Given the description of an element on the screen output the (x, y) to click on. 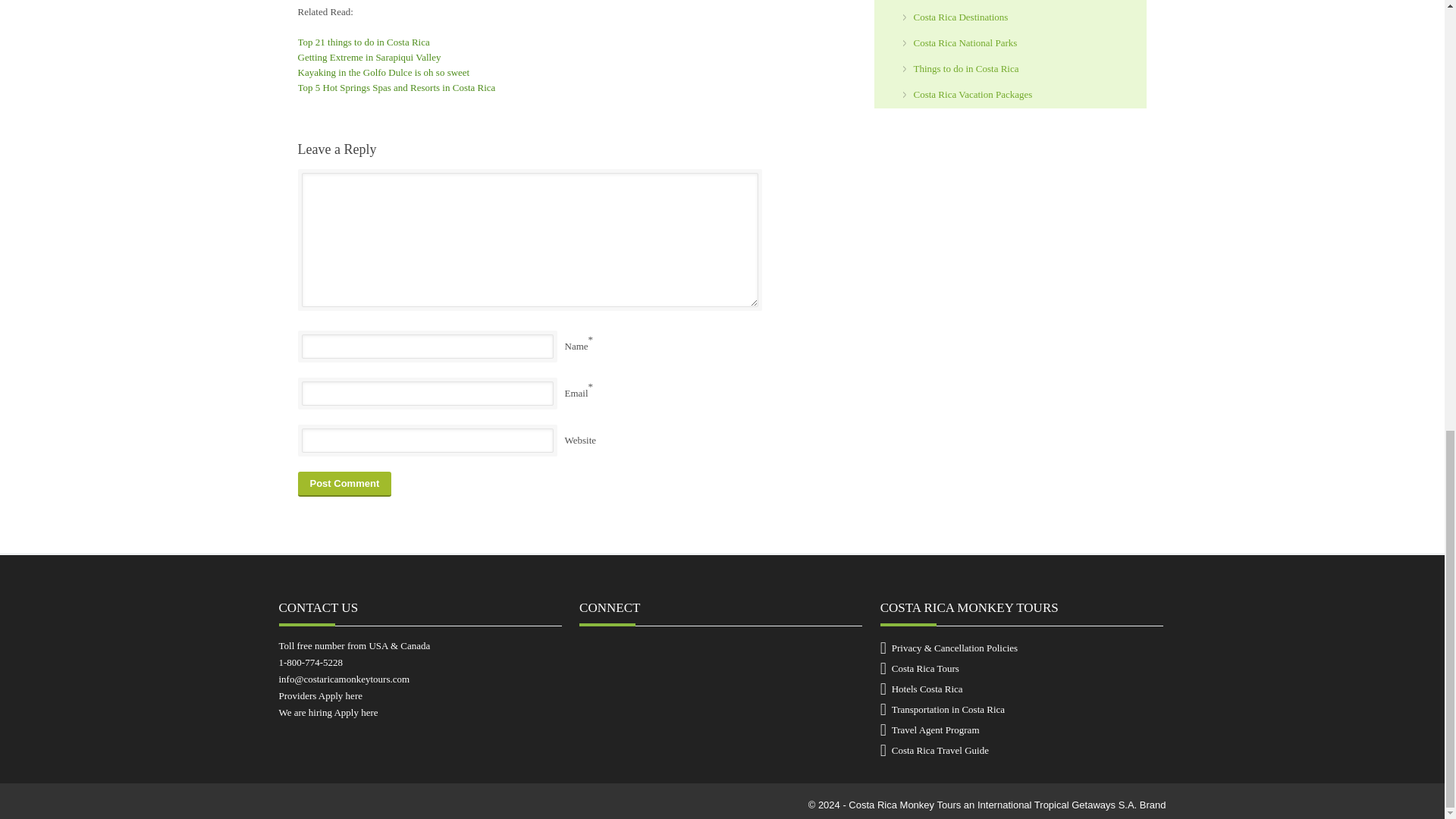
Top 5 Hot Springs Spas and Resorts in Costa Rica (396, 87)
Top 21 things to do in Costa Rica (363, 41)
Kayaking in the Golfo Dulce is oh so sweet (382, 71)
Post Comment (344, 483)
Post Comment (344, 483)
Getting Extreme in Sarapiqui Valley (369, 57)
